Given the description of an element on the screen output the (x, y) to click on. 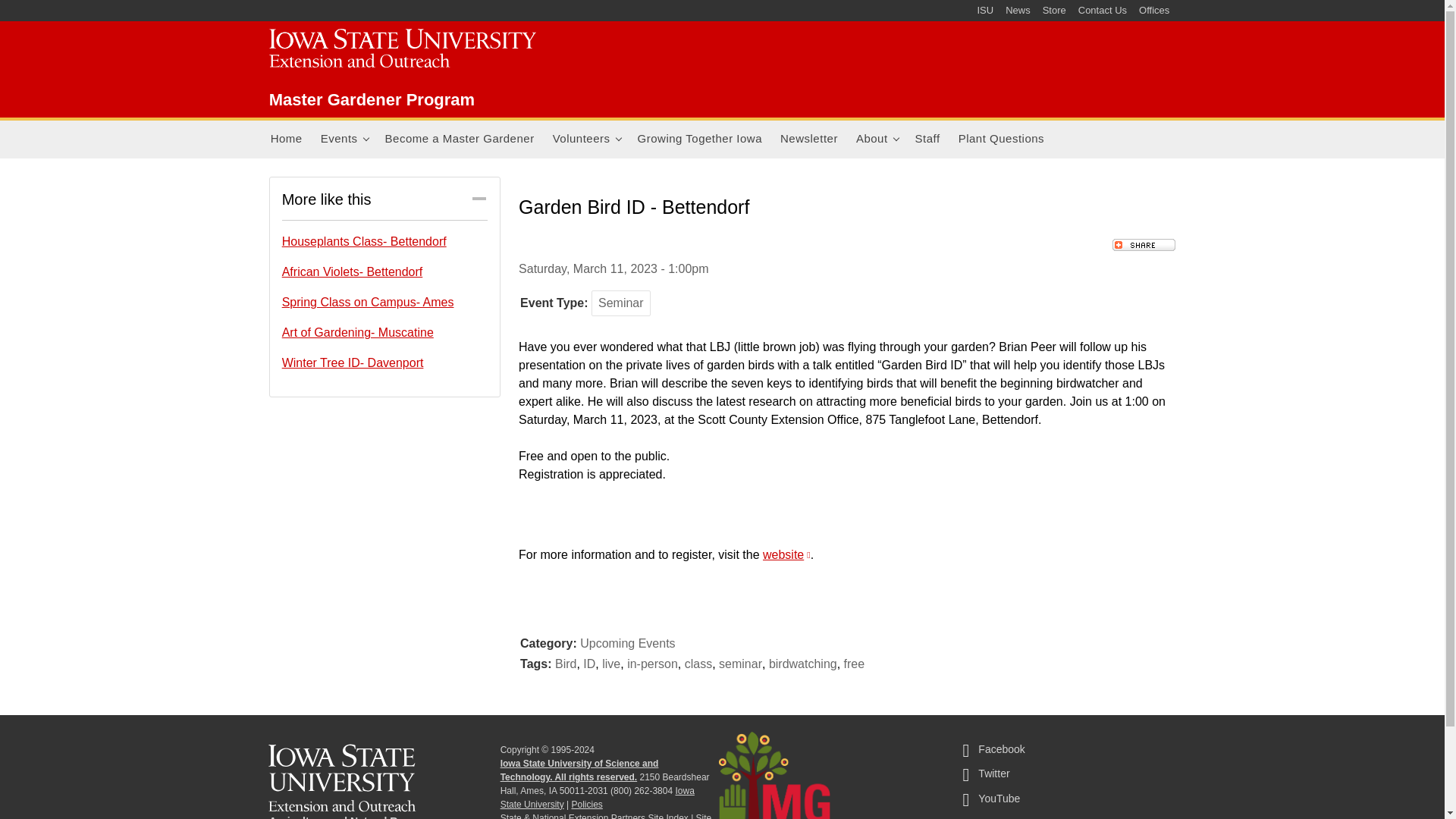
class (697, 664)
Master Gardener Program (371, 99)
Store (1053, 10)
ISU (984, 10)
Offices (1153, 10)
Newsletter (809, 139)
Skip to main content (685, 1)
ID (589, 664)
News (1017, 10)
Houseplants Class- Bettendorf (384, 241)
Become a Master Gardener (459, 139)
Plant Questions (1000, 139)
Spring Class on Campus- Ames (384, 302)
live (611, 664)
